Given the description of an element on the screen output the (x, y) to click on. 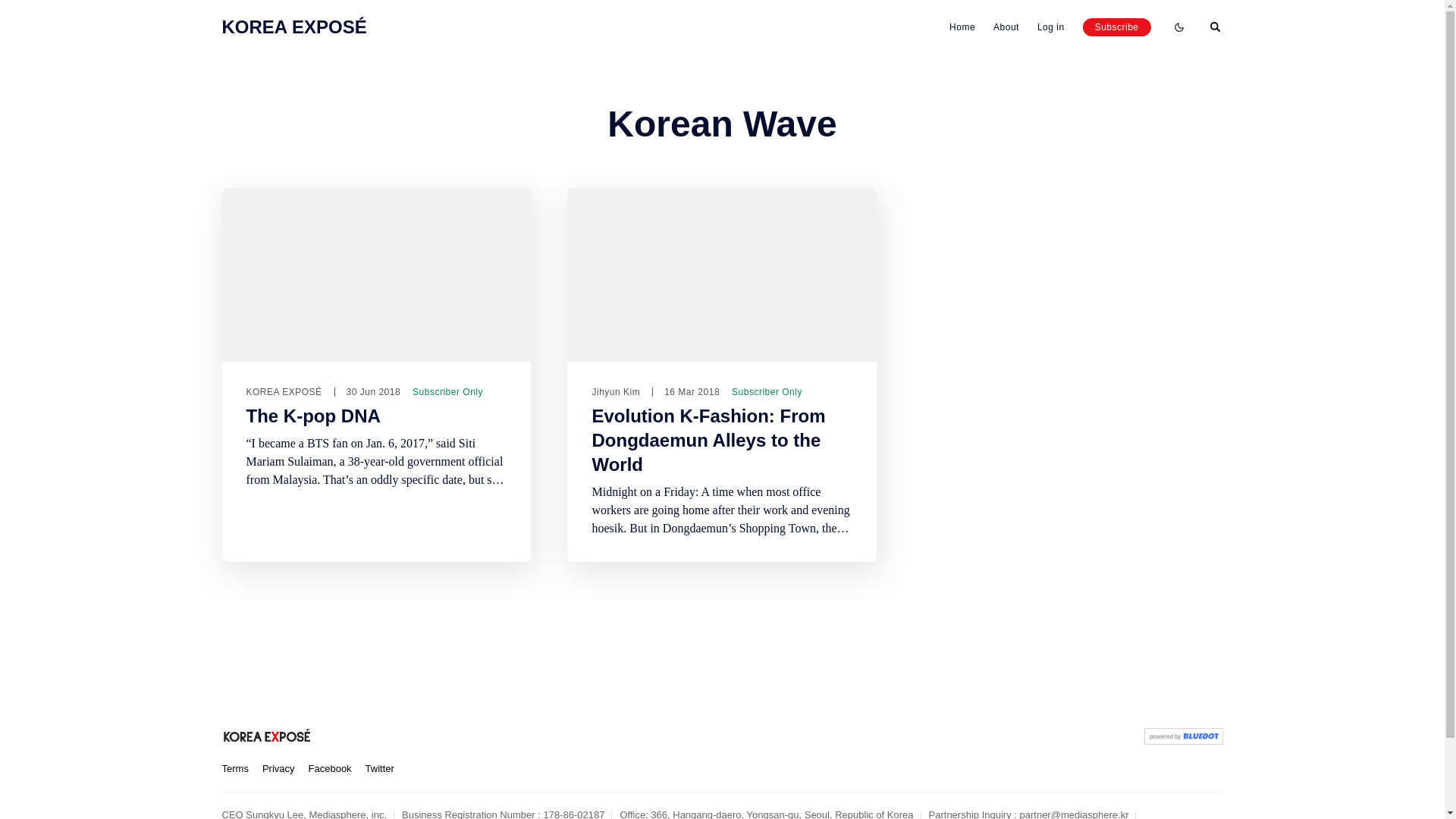
Home (962, 27)
Enable dark mode (1179, 27)
Subscribe (1117, 27)
Enable dark mode (1179, 27)
Log in (1050, 27)
Facebook (330, 768)
Privacy (278, 768)
Terms (234, 768)
About (1005, 27)
The K-pop DNA (313, 415)
Jihyun Kim (615, 391)
Twitter (379, 768)
Evolution K-Fashion: From Dongdaemun Alleys to the World (708, 440)
